Given the description of an element on the screen output the (x, y) to click on. 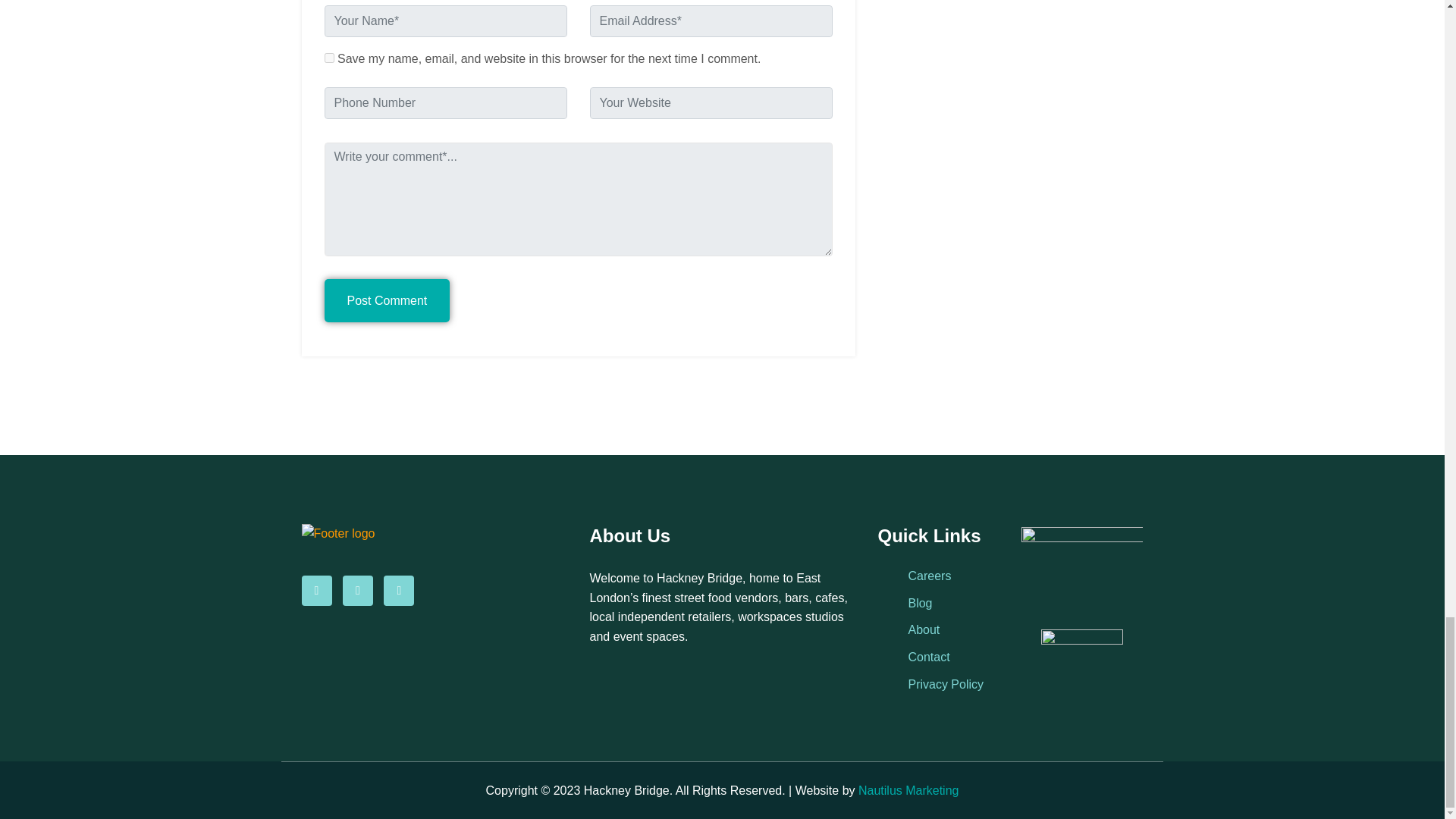
Facebook (316, 590)
Post Comment (386, 300)
Instagram (398, 590)
yes (329, 58)
Twitter (357, 590)
